Given the description of an element on the screen output the (x, y) to click on. 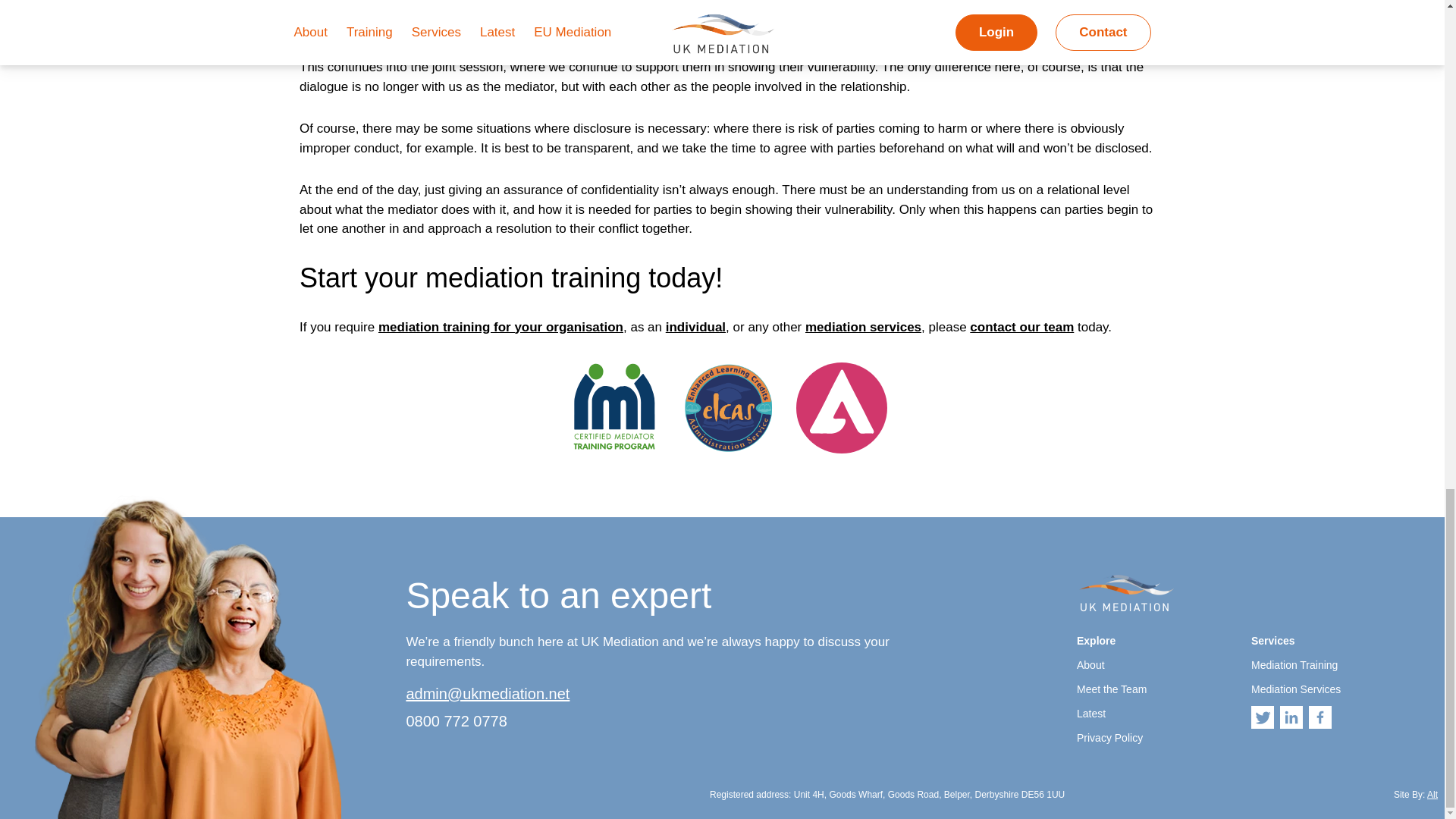
mediation services (863, 327)
mediation training for your organisation (500, 327)
individual (695, 327)
contact our team (1021, 327)
